Given the description of an element on the screen output the (x, y) to click on. 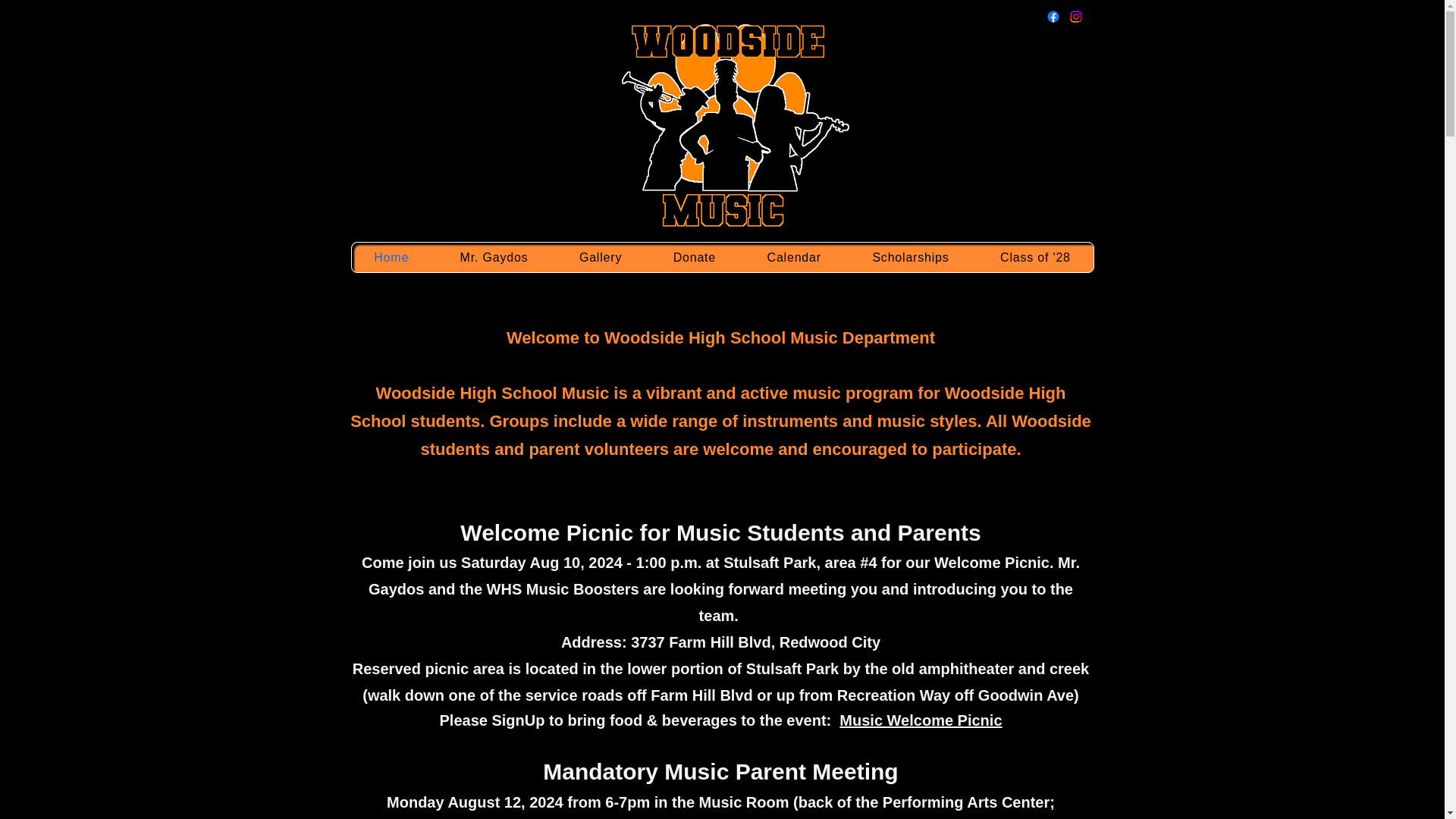
Back (543, 44)
Scholarships (911, 256)
Donate (694, 256)
Mr. Gaydos (494, 256)
Class of '28 (1034, 256)
Gallery (600, 256)
Home (391, 256)
Music Welcome Picnic (920, 719)
Calendar (794, 256)
